Given the description of an element on the screen output the (x, y) to click on. 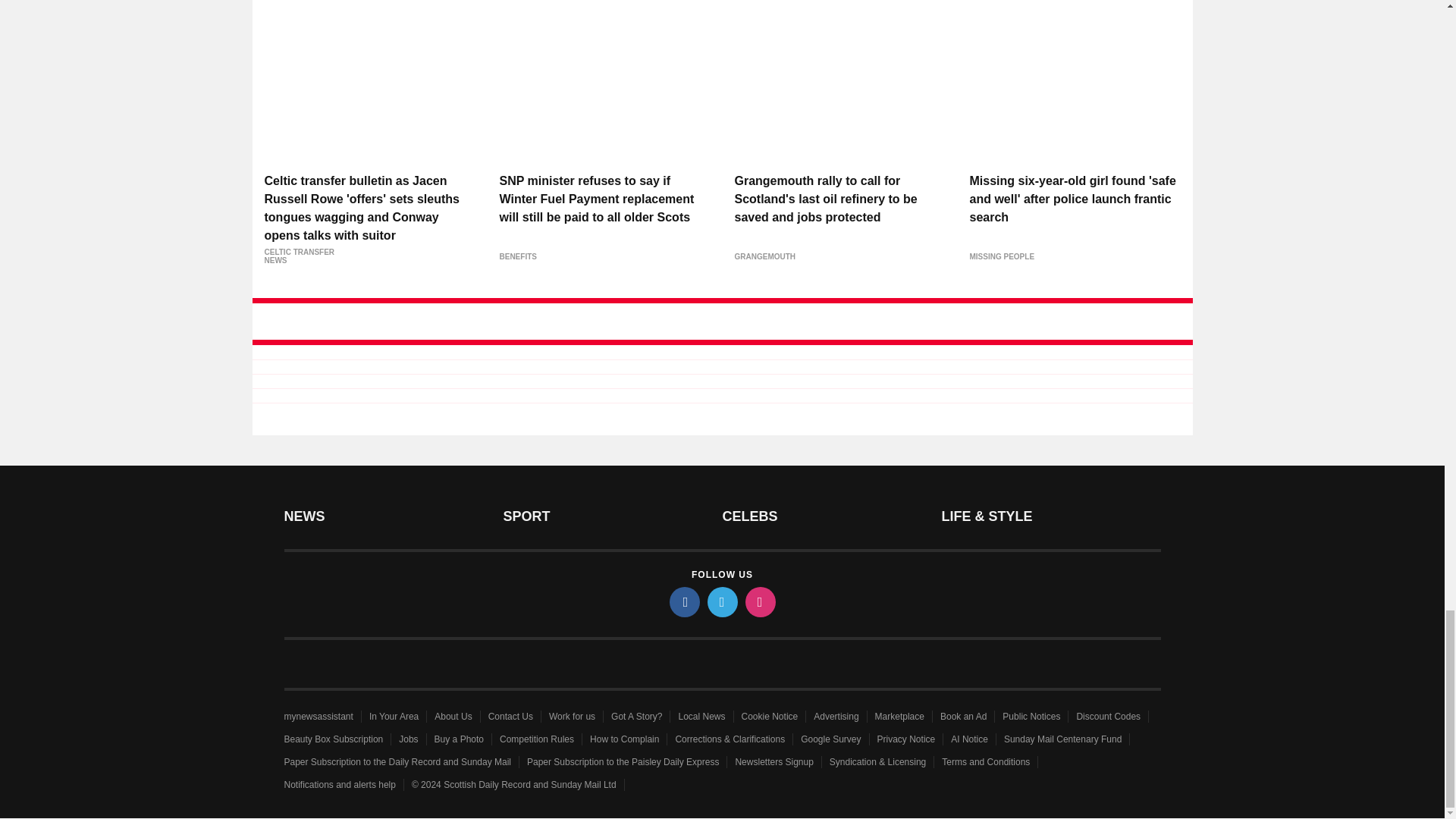
instagram (759, 602)
twitter (721, 602)
facebook (683, 602)
